Given the description of an element on the screen output the (x, y) to click on. 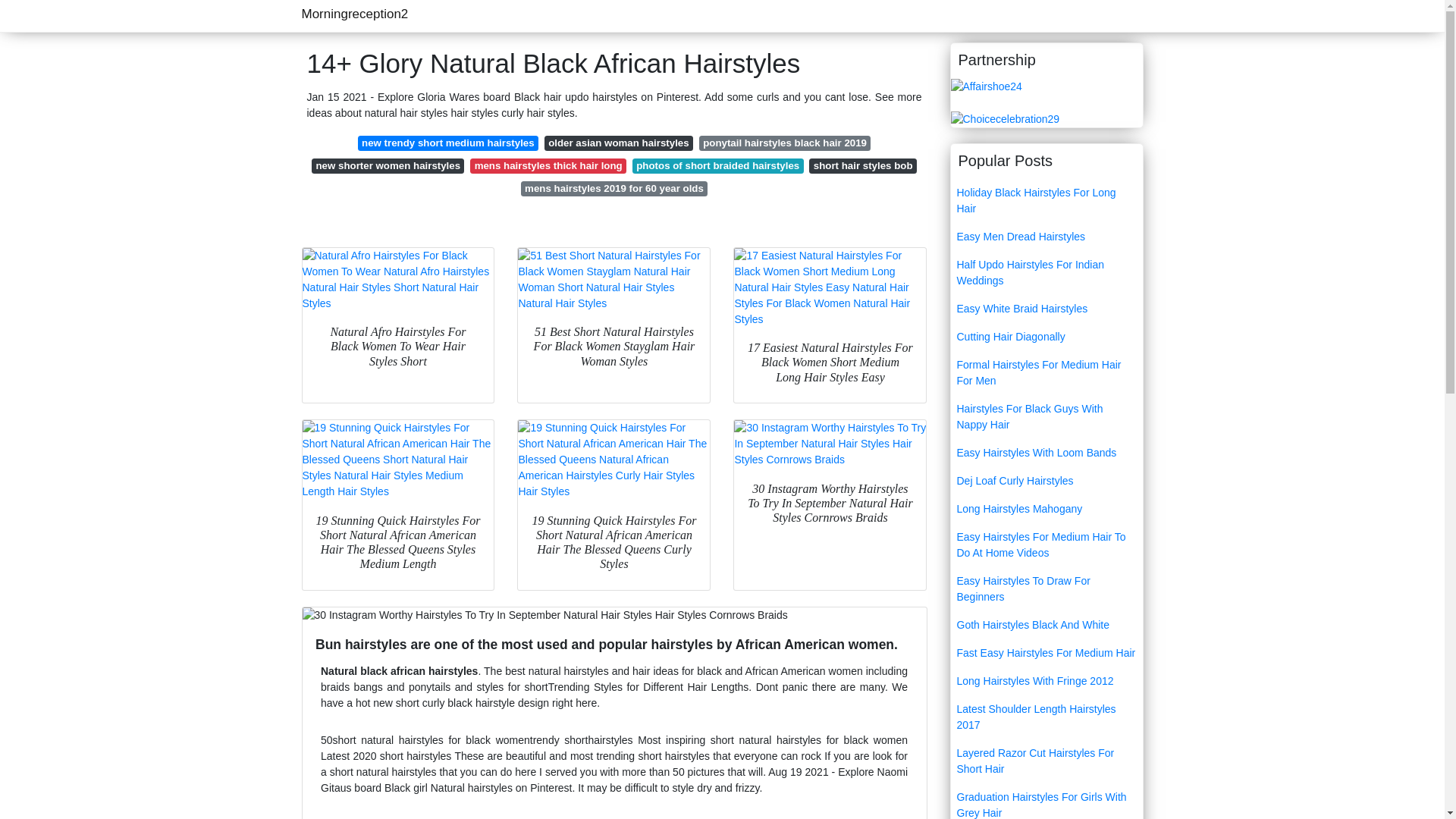
Goth Hairstyles Black And White (1046, 624)
mens hairstyles 2019 for 60 year olds (614, 188)
Easy Hairstyles For Medium Hair To Do At Home Videos (1046, 545)
Easy White Braid Hairstyles (1046, 308)
Choicecelebration29 (1004, 118)
short hair styles bob (862, 165)
older asian woman hairstyles (618, 142)
Cutting Hair Diagonally (1046, 336)
Morningreception2 (355, 13)
ponytail hairstyles black hair 2019 (784, 142)
